Given the description of an element on the screen output the (x, y) to click on. 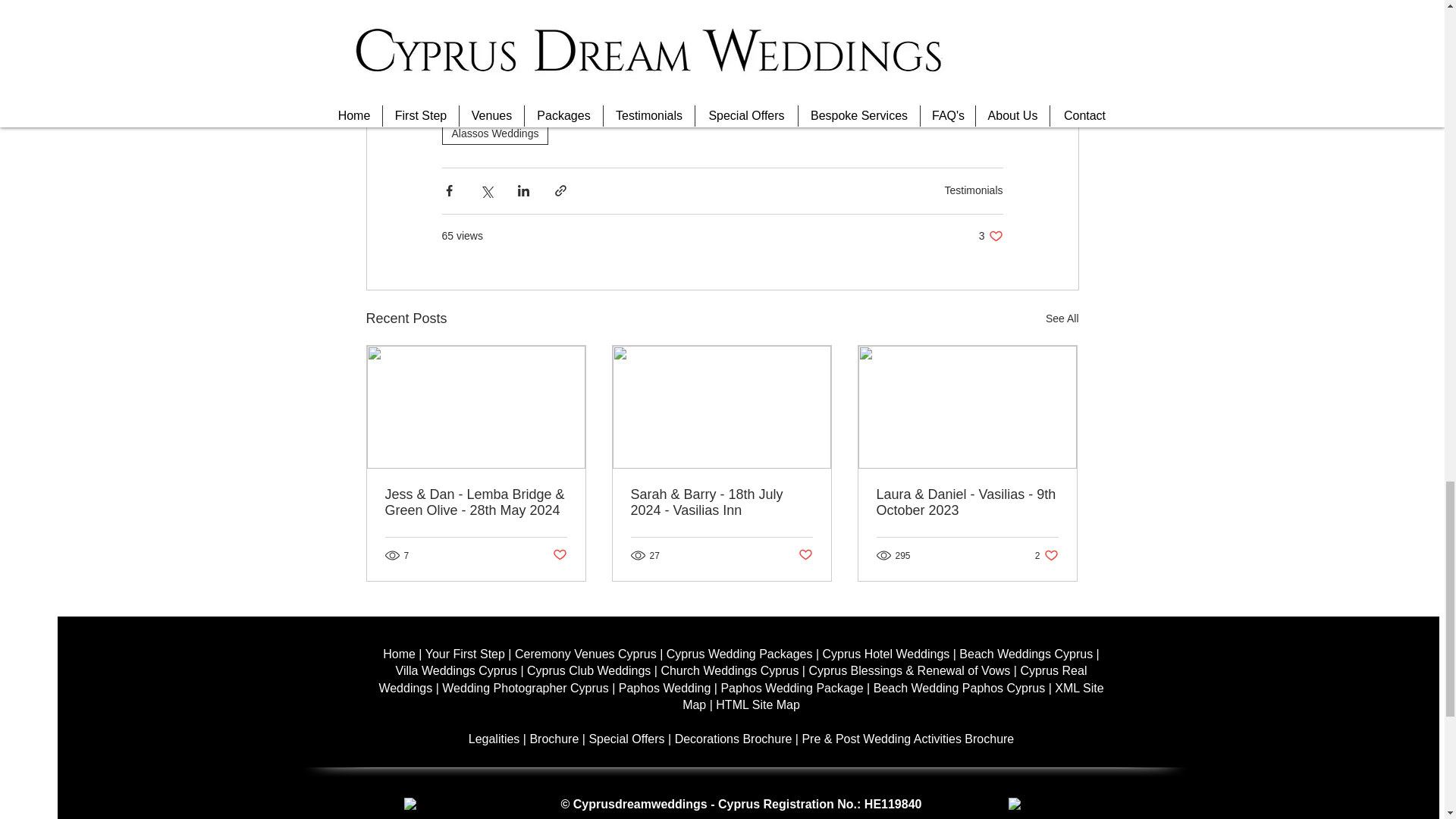
Post not marked as liked (558, 555)
Beach WEddings (871, 104)
Destination Weddings (752, 104)
Cyprus Dream Weddings (510, 104)
Alassos Weddings (494, 133)
Post not marked as liked (1046, 554)
Home (804, 555)
Your First Step (400, 653)
